Given the description of an element on the screen output the (x, y) to click on. 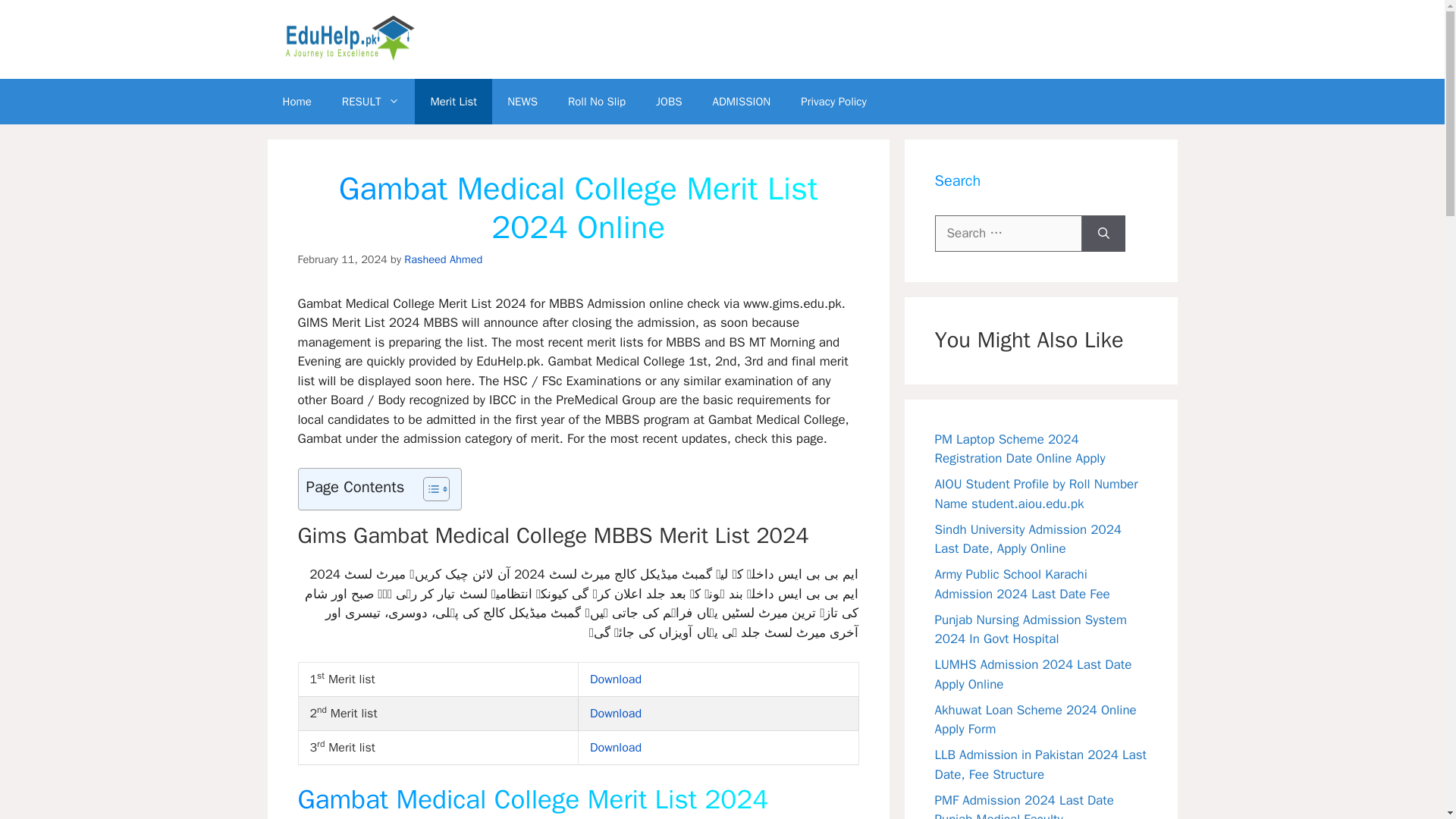
Rasheed Ahmed (442, 259)
Privacy Policy (834, 101)
RESULT (370, 101)
Download (615, 713)
NEWS (522, 101)
Merit List (453, 101)
View all posts by Rasheed Ahmed (442, 259)
Roll No Slip (596, 101)
ADMISSION (741, 101)
Search for: (1007, 233)
Home (296, 101)
JOBS (668, 101)
Download (615, 679)
Download (615, 747)
